Given the description of an element on the screen output the (x, y) to click on. 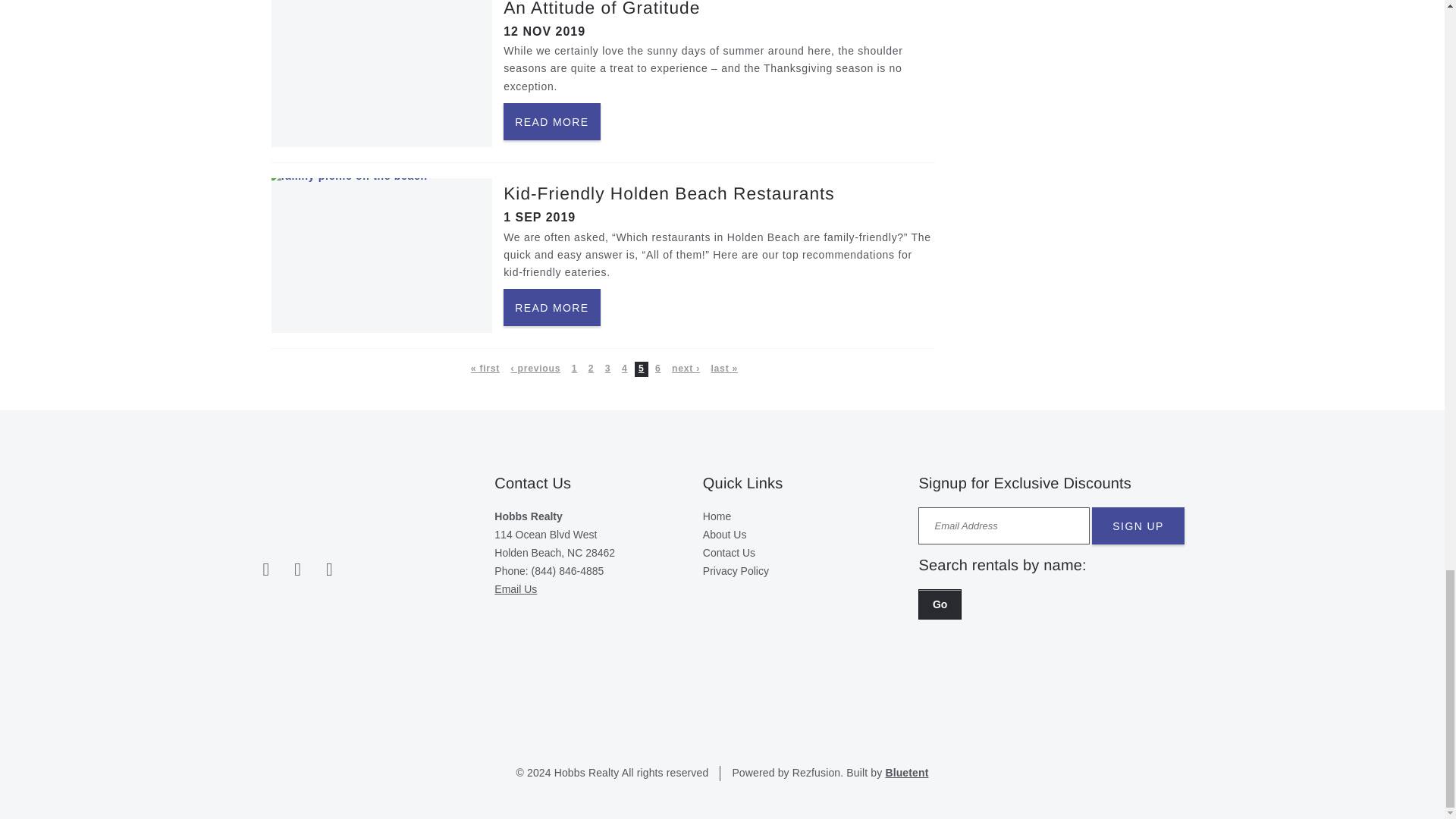
Go to first page (484, 368)
Go to page 4 (624, 368)
Go to page 1 (573, 368)
Go to previous page (535, 368)
Go to page 2 (589, 368)
Go to next page (686, 368)
Go to last page (723, 368)
Go to page 3 (606, 368)
Go to page 6 (657, 368)
